Given the description of an element on the screen output the (x, y) to click on. 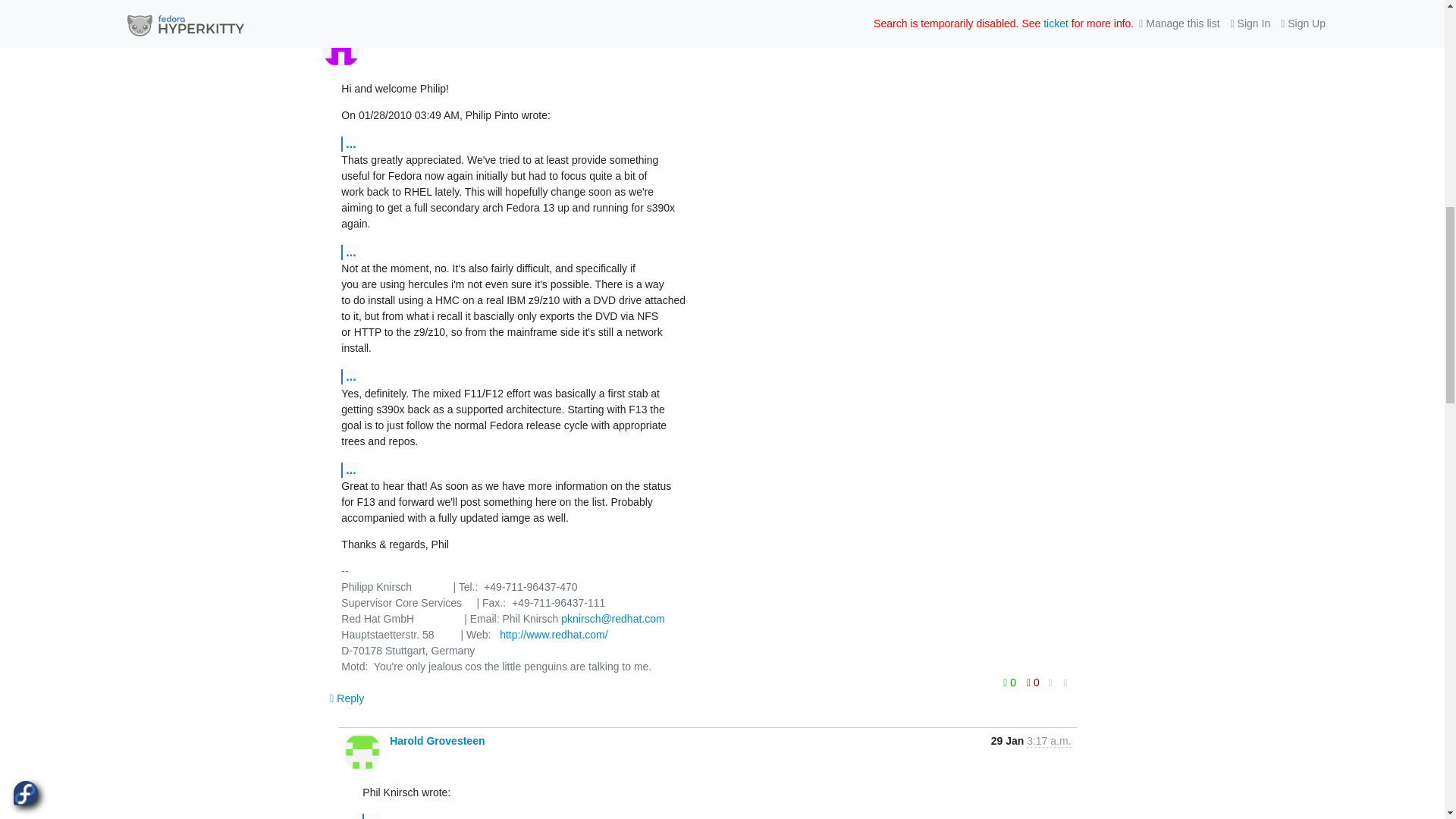
You must be logged-in to vote. (1010, 682)
See the profile for Phil Knirsch (399, 37)
Sender's time: Jan. 28, 2010, 12:25 p.m. (1048, 37)
You must be logged-in to vote. (1033, 682)
Sign in to reply online (346, 697)
